Given the description of an element on the screen output the (x, y) to click on. 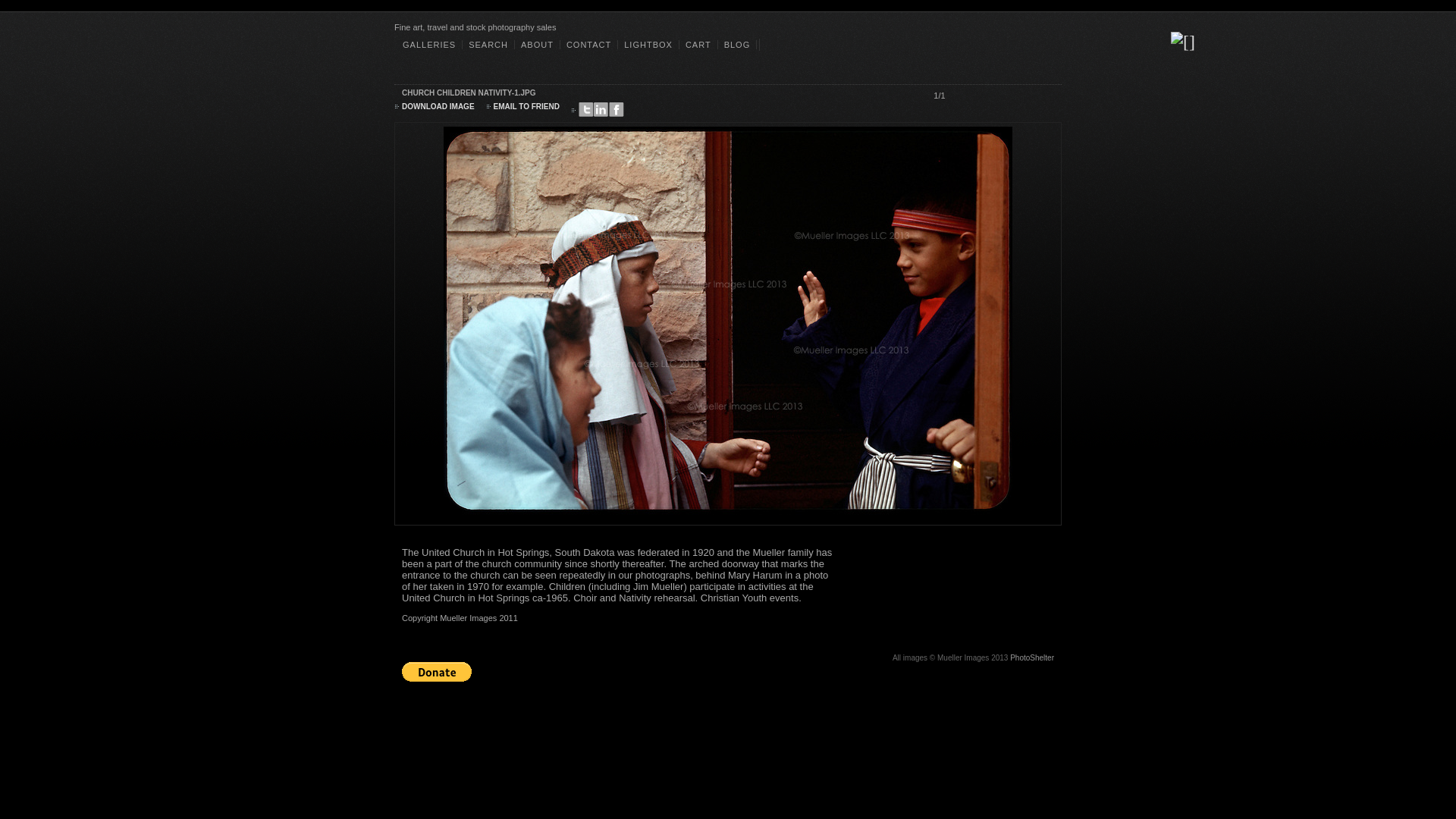
LIGHTBOX (648, 44)
SEARCH (488, 44)
BLOG (737, 44)
CART (697, 44)
EMAIL TO FRIEND (526, 106)
ABOUT (536, 44)
DOWNLOAD IMAGE (437, 106)
GALLERIES (429, 44)
Email to a Friend (526, 106)
CONTACT (588, 44)
